Given the description of an element on the screen output the (x, y) to click on. 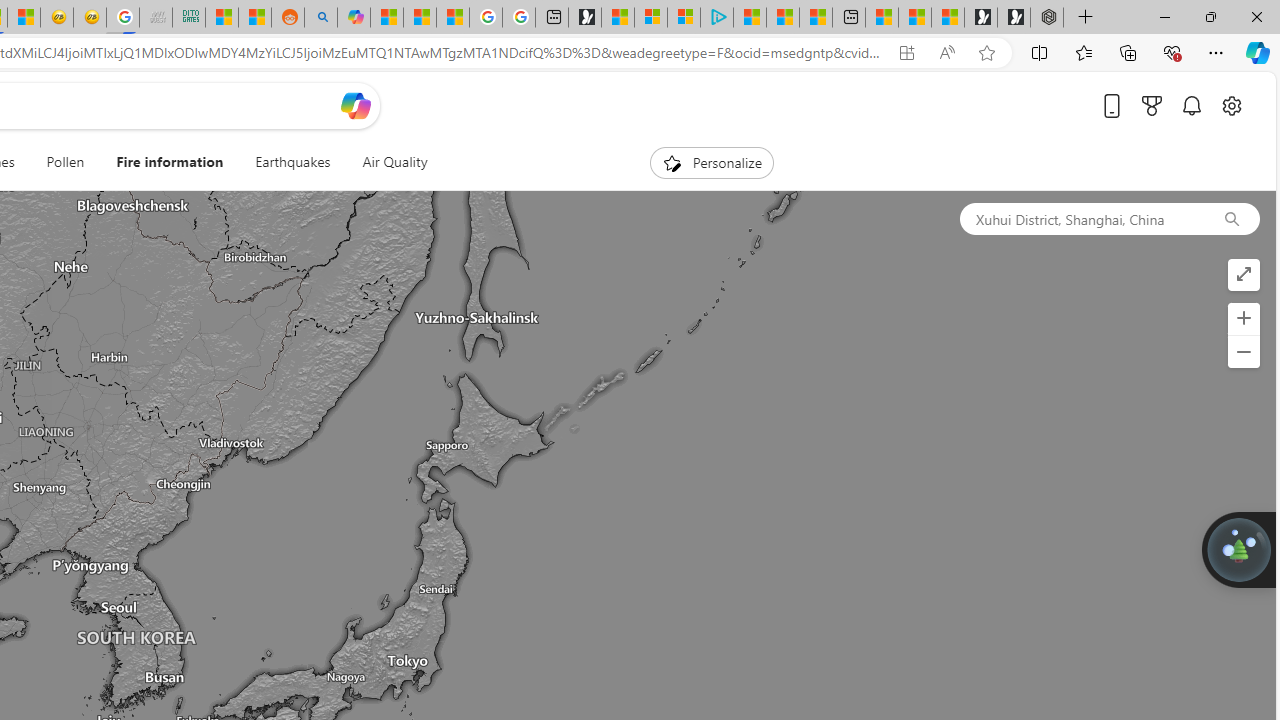
Pollen (65, 162)
Air Quality (386, 162)
Join us in planting real trees to help our planet! (1239, 548)
Fire information (170, 162)
These 3 Stocks Pay You More Than 5% to Own Them (815, 17)
